Given the description of an element on the screen output the (x, y) to click on. 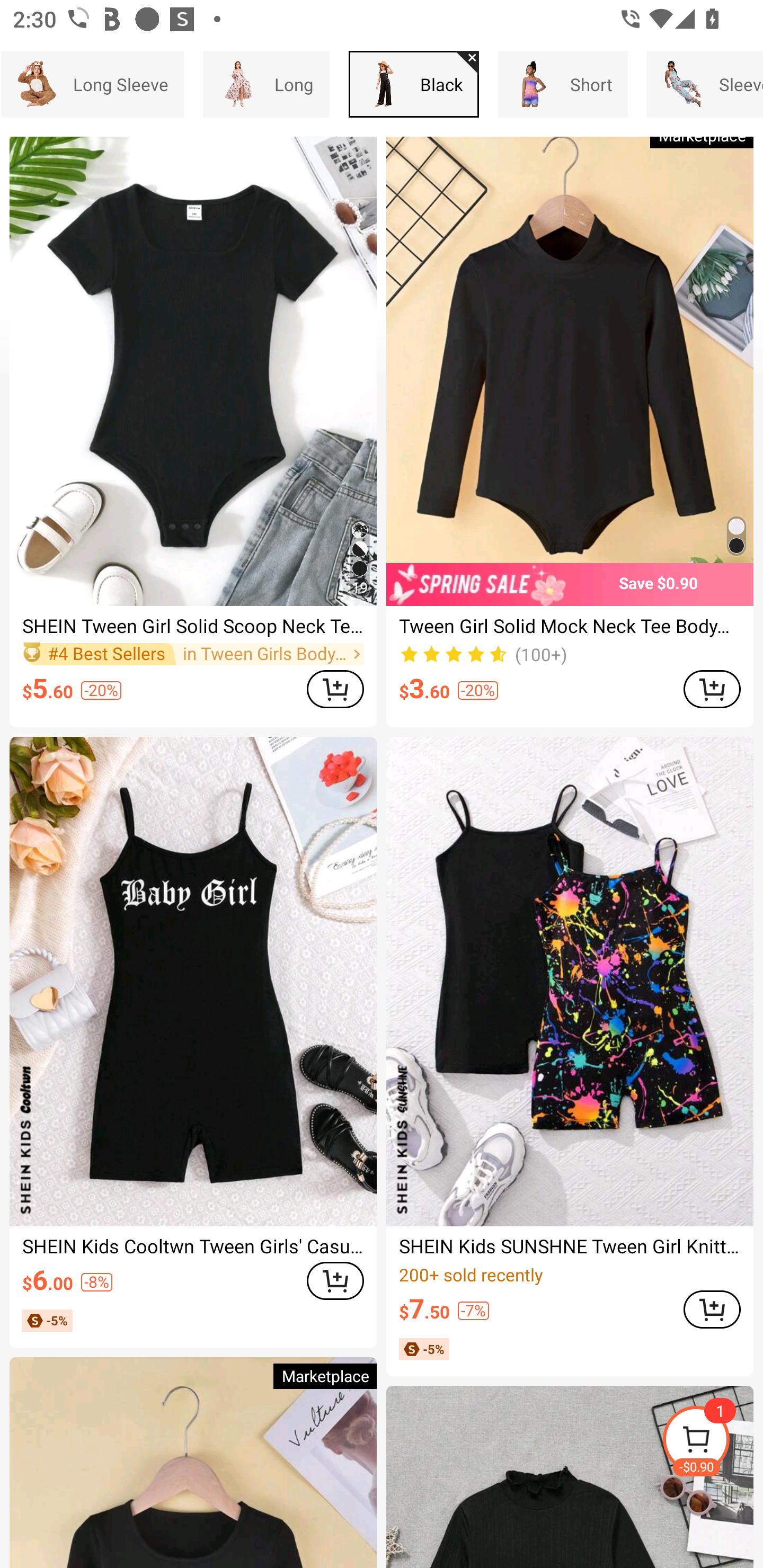
Long Sleeve (91, 83)
Long (265, 83)
Black (413, 83)
Short (562, 83)
Sleeveless (705, 83)
ADD TO CART (334, 688)
ADD TO CART (711, 688)
ADD TO CART (334, 1280)
ADD TO CART (711, 1309)
-$0.90 (712, 1441)
